Given the description of an element on the screen output the (x, y) to click on. 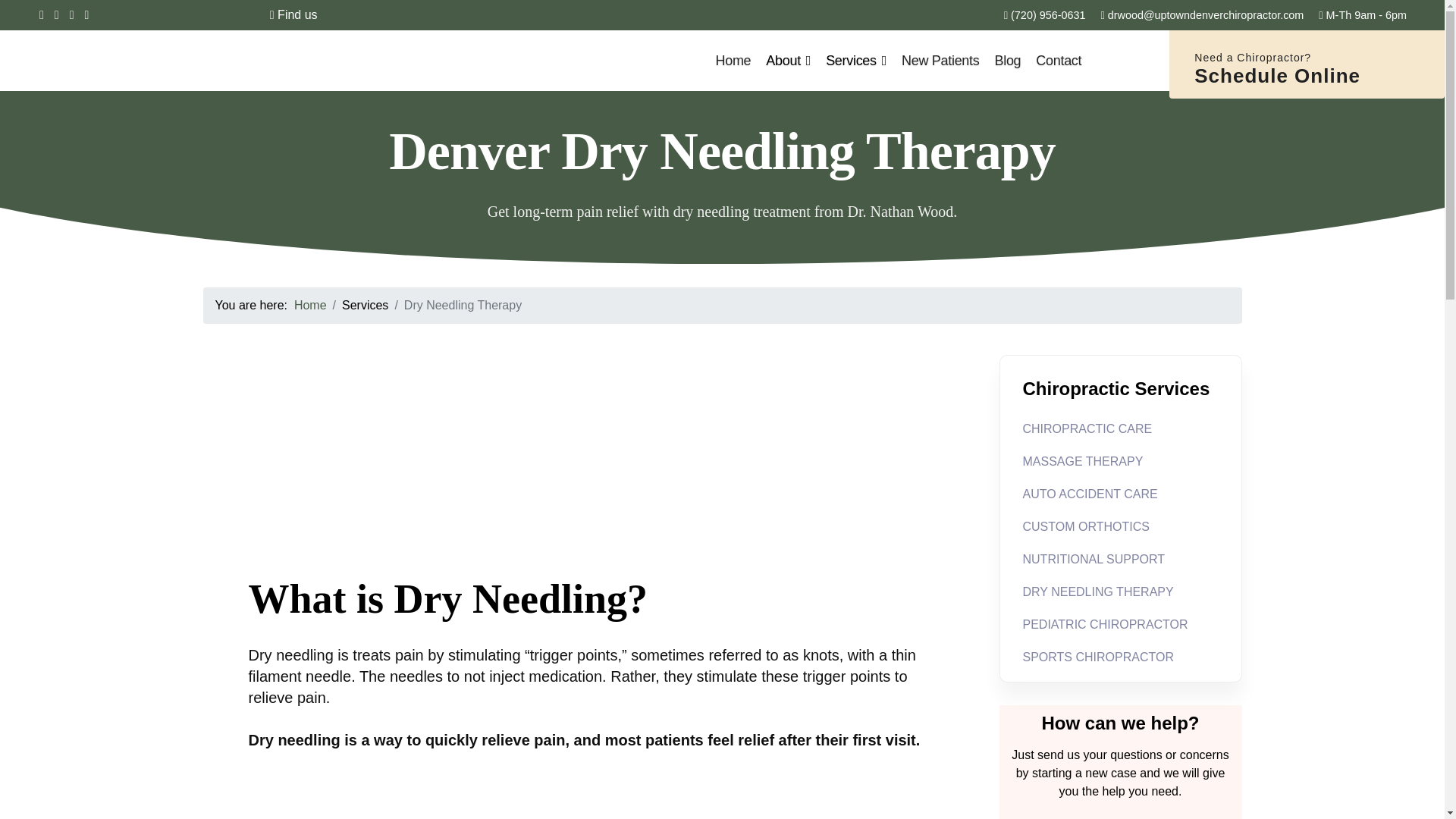
MASSAGE THERAPY (1119, 460)
Home (732, 60)
Contact (1058, 60)
CUSTOM ORTHOTICS (1119, 524)
New Patients (940, 60)
Home (310, 305)
AUTO ACCIDENT CARE (1119, 492)
Blog (1007, 60)
CHIROPRACTIC CARE (1119, 427)
PEDIATRIC CHIROPRACTOR (1119, 623)
Find us (293, 14)
DRY NEEDLING THERAPY (1119, 590)
NUTRITIONAL SUPPORT (1119, 557)
